Given the description of an element on the screen output the (x, y) to click on. 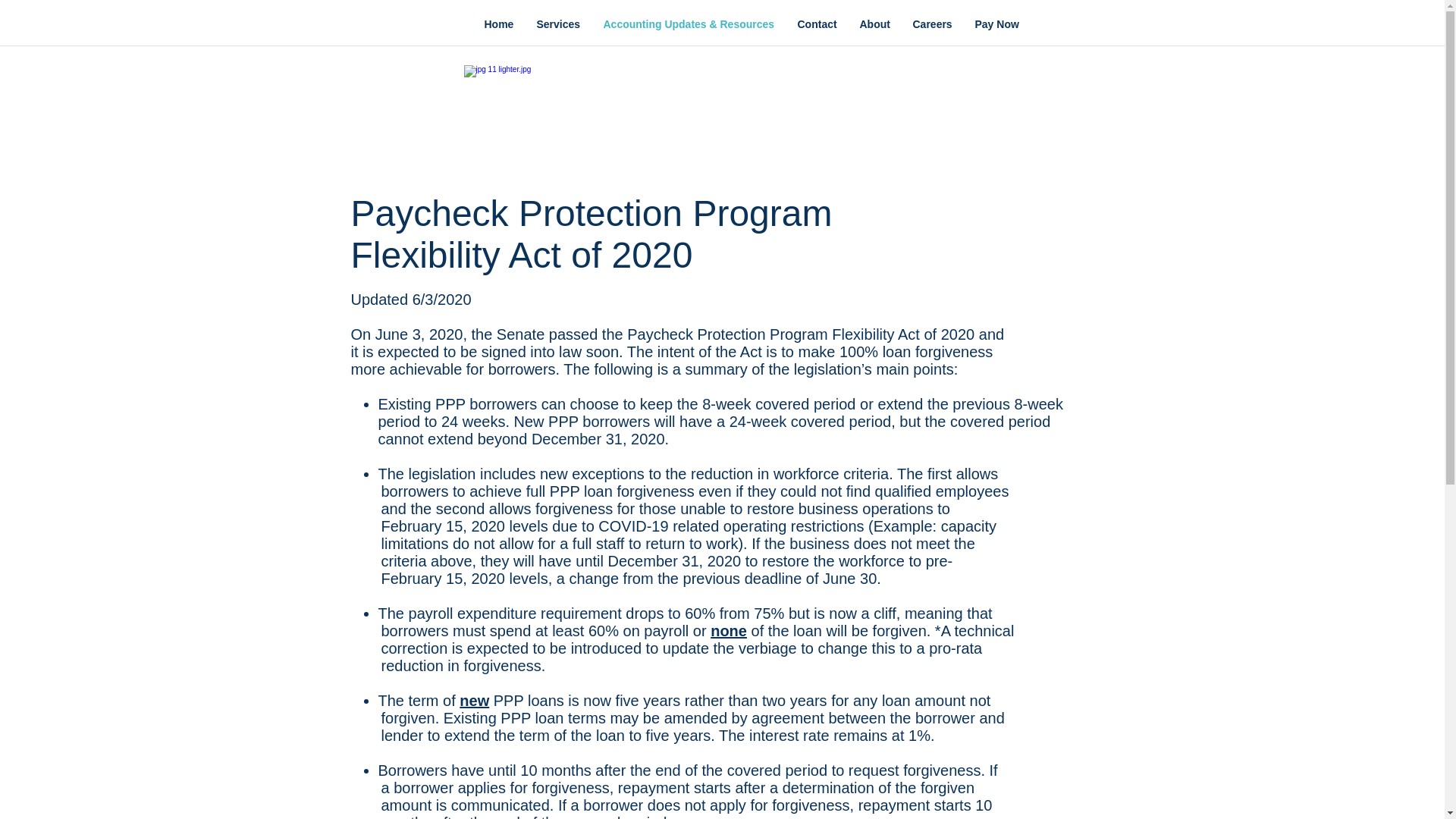
Home (499, 24)
Contact (816, 24)
Services (557, 24)
About (874, 24)
Pay Now (995, 24)
Careers (931, 24)
